Given the description of an element on the screen output the (x, y) to click on. 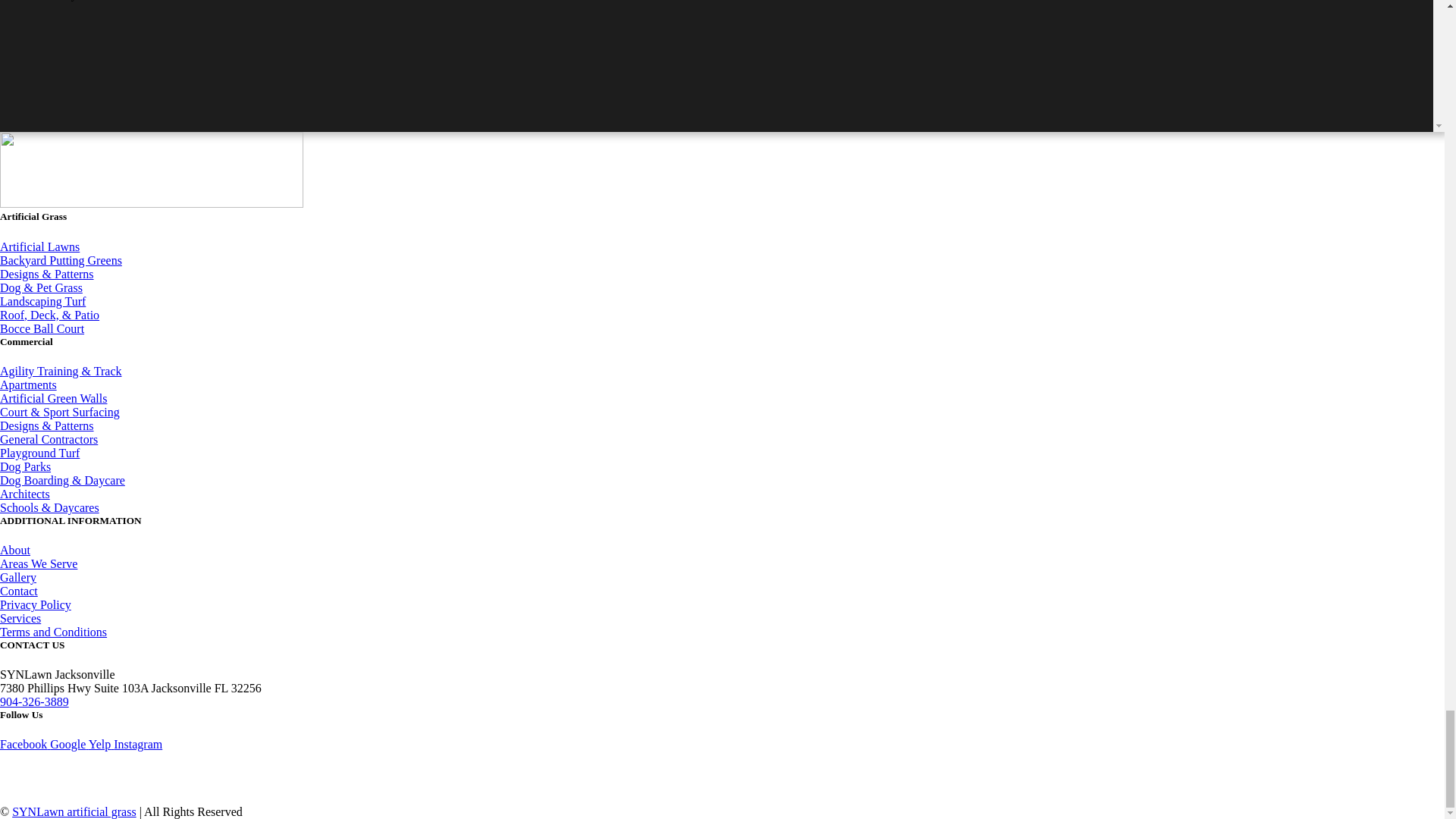
SYNLawn artificial grass (73, 811)
